Given the description of an element on the screen output the (x, y) to click on. 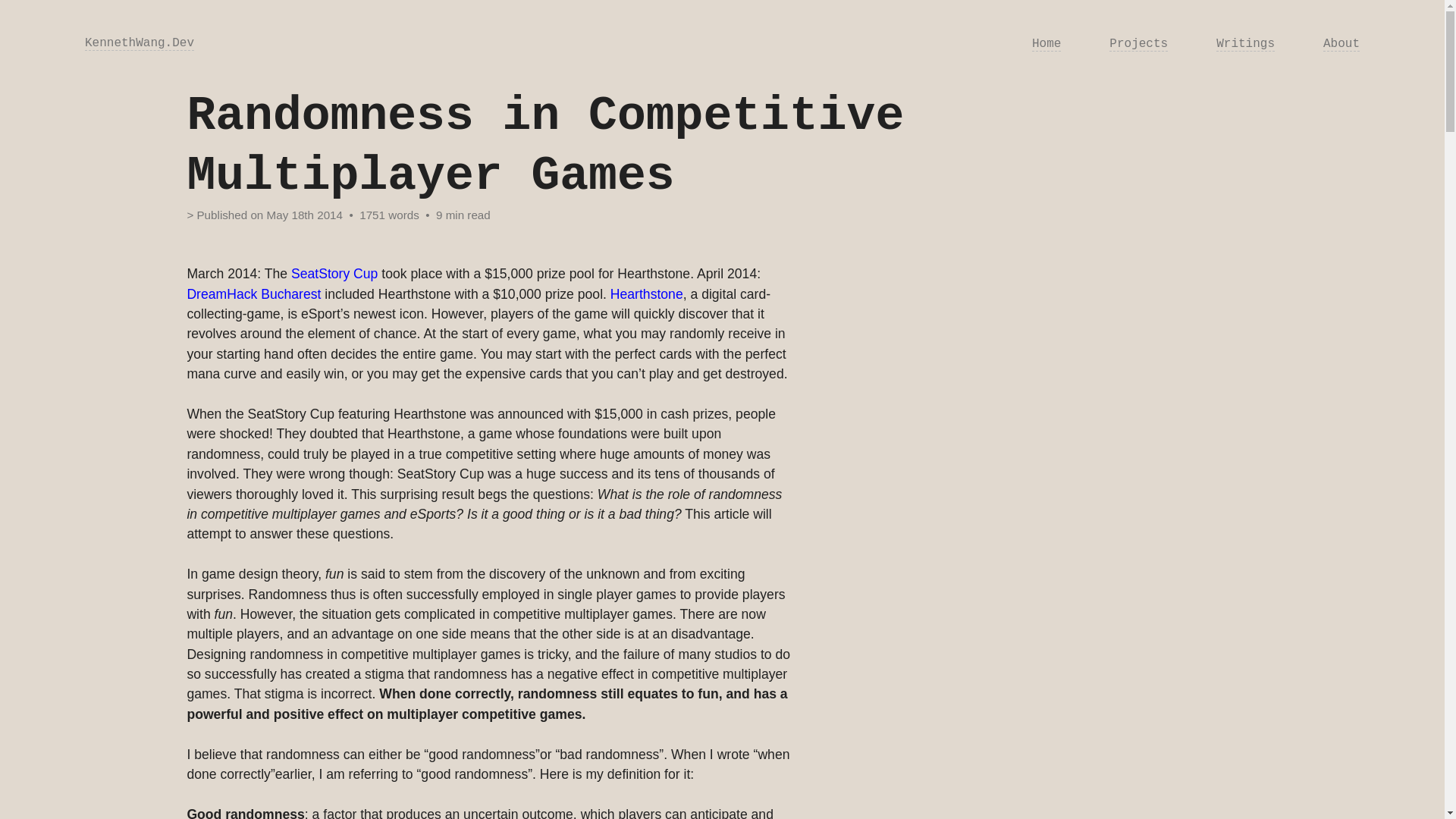
Hearthstone (646, 294)
Home (1046, 43)
Projects (1138, 43)
SeatStory Cup (336, 273)
Writings (1245, 43)
About (1341, 43)
KennethWang.Dev (138, 42)
DreamHack Bucharest (253, 294)
